Given the description of an element on the screen output the (x, y) to click on. 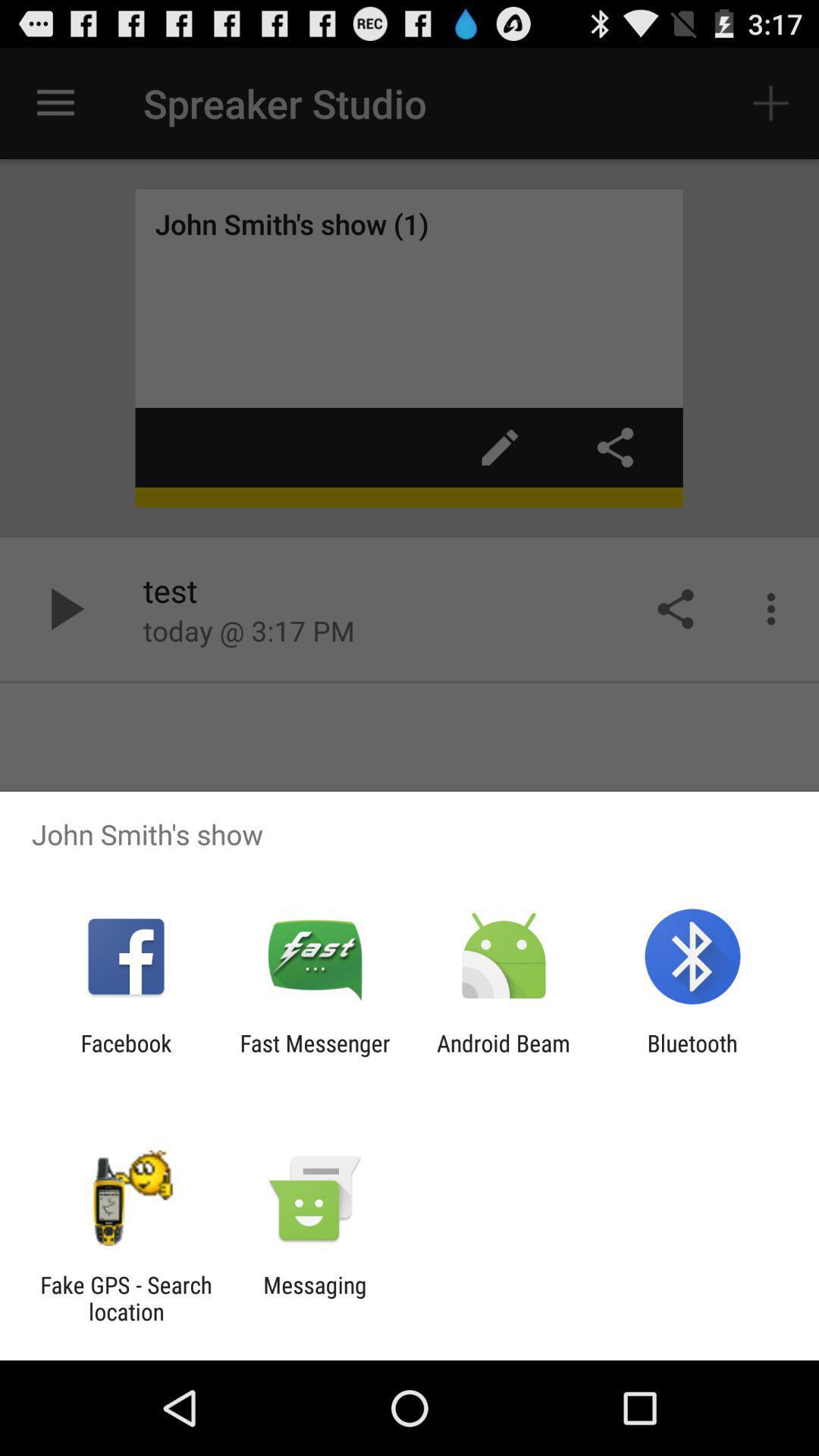
turn on the icon next to android beam (692, 1056)
